Given the description of an element on the screen output the (x, y) to click on. 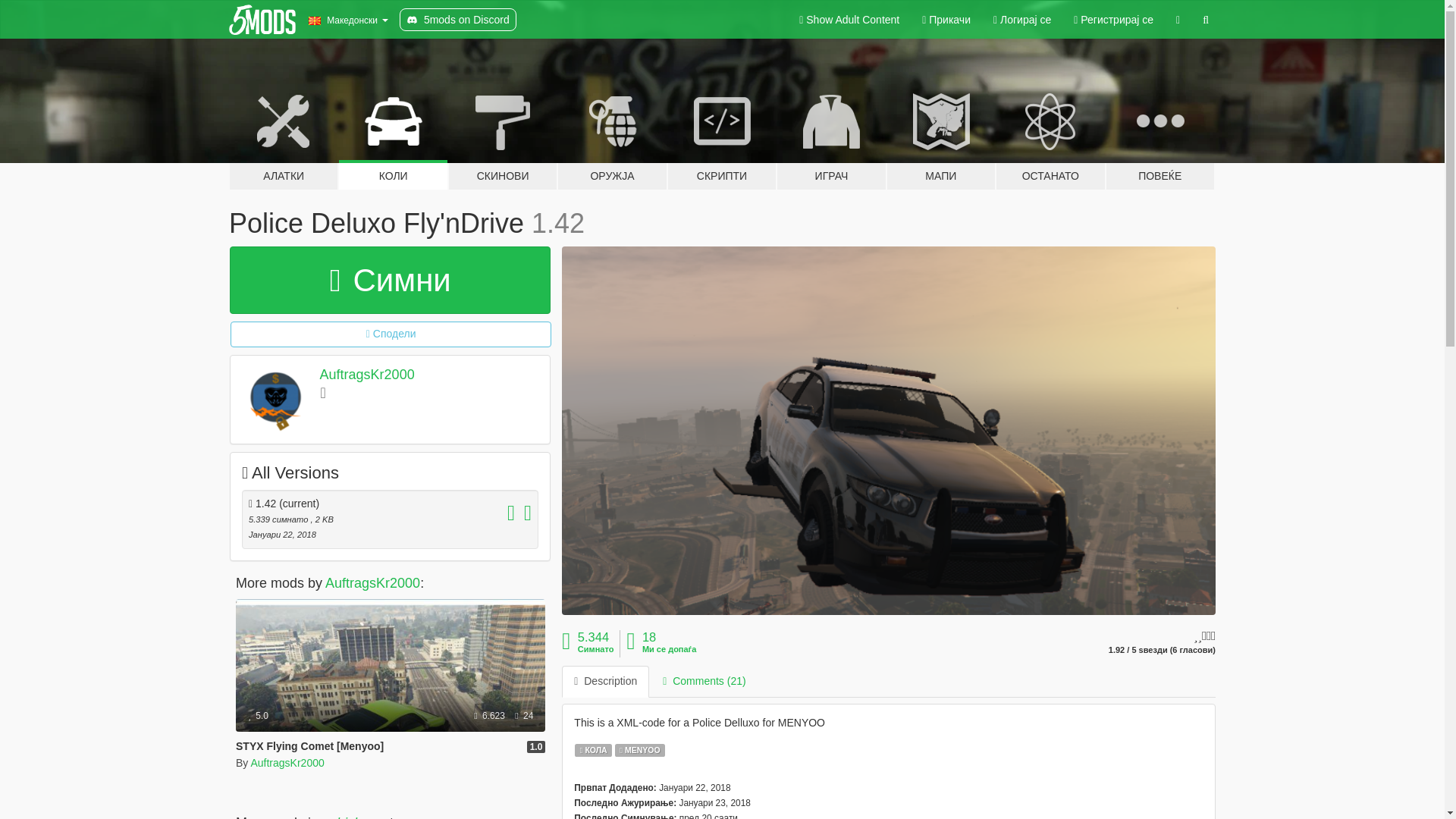
1.0 (536, 746)
Show Adult Content (849, 19)
5mods on Discord (457, 19)
5.0 star rating (257, 715)
AuftragsKr2000 (286, 762)
Light mode (849, 19)
